Given the description of an element on the screen output the (x, y) to click on. 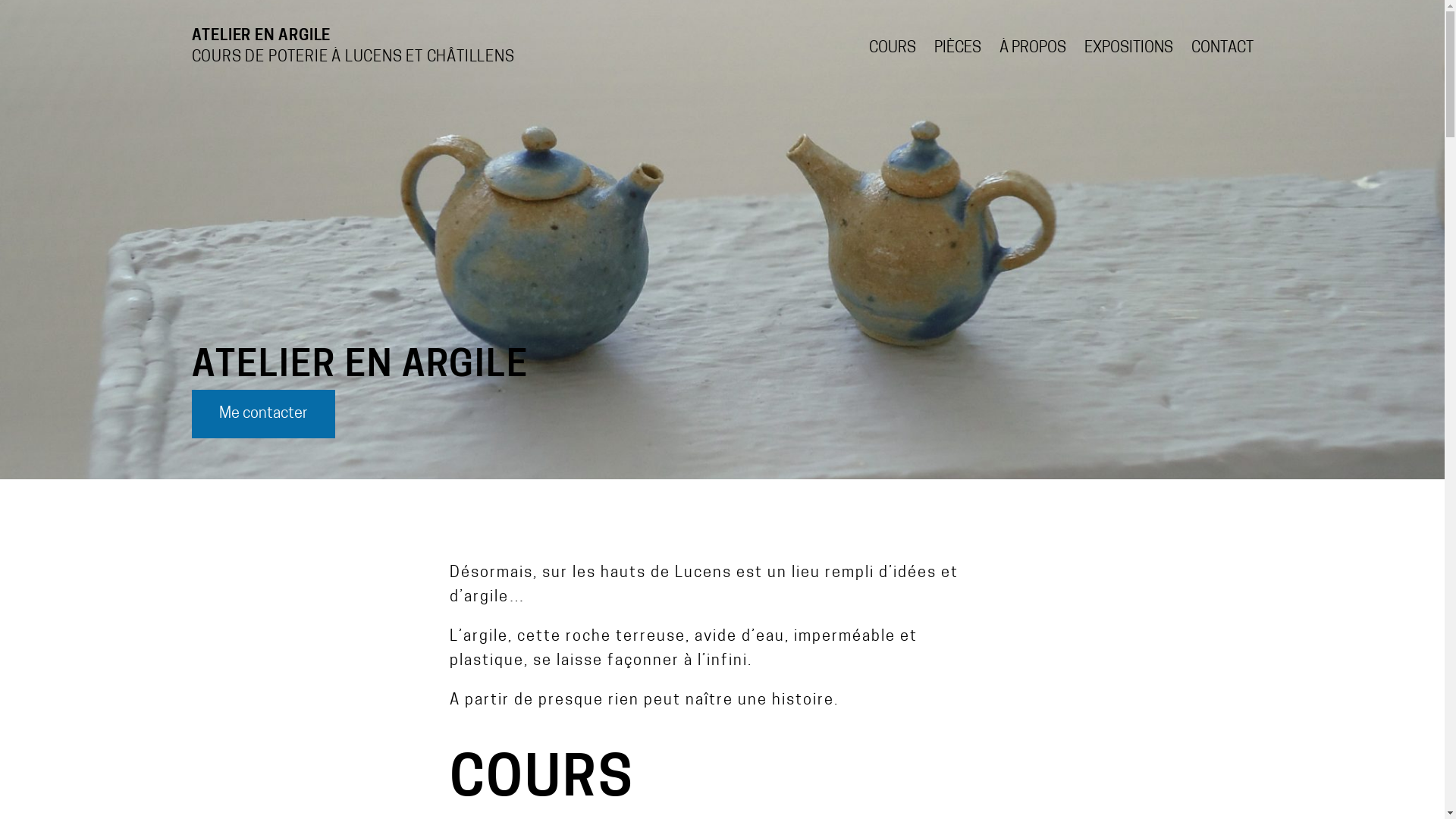
ATELIER EN ARGILE Element type: text (260, 35)
EXPOSITIONS Element type: text (1128, 48)
Me contacter Element type: text (262, 413)
CONTACT Element type: text (1221, 48)
COURS Element type: text (892, 48)
